Given the description of an element on the screen output the (x, y) to click on. 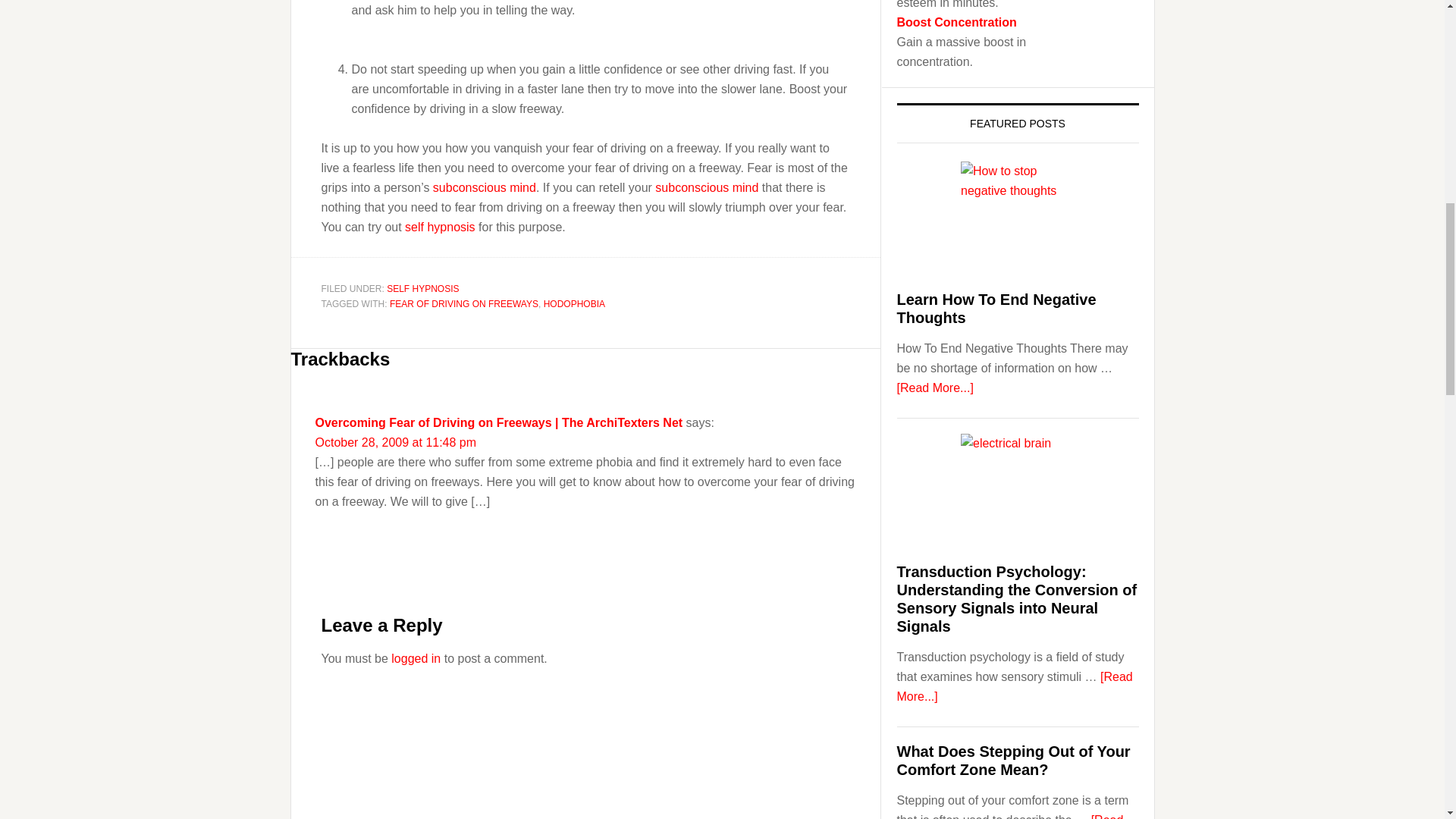
SELF HYPNOSIS (422, 288)
October 28, 2009 at 11:48 pm (396, 441)
HODOPHOBIA (574, 303)
self hypnosis (440, 226)
FEAR OF DRIVING ON FREEWAYS (464, 303)
subconscious mind (483, 187)
logged in (416, 658)
subconscious mind (706, 187)
